Given the description of an element on the screen output the (x, y) to click on. 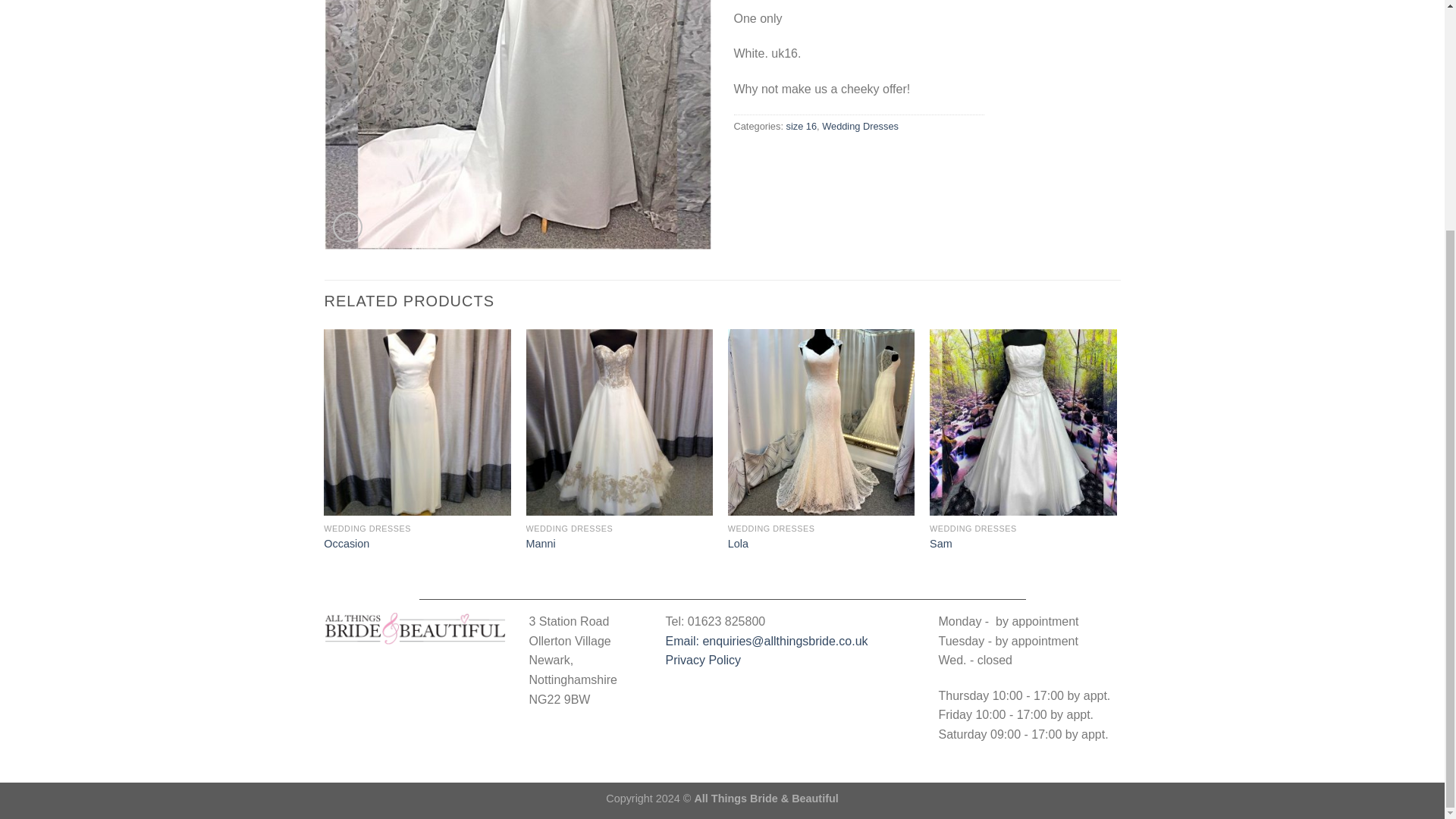
Occasion (346, 544)
Zoom (347, 226)
size 16 (801, 125)
Wedding Dresses (860, 125)
Manni (540, 544)
